Given the description of an element on the screen output the (x, y) to click on. 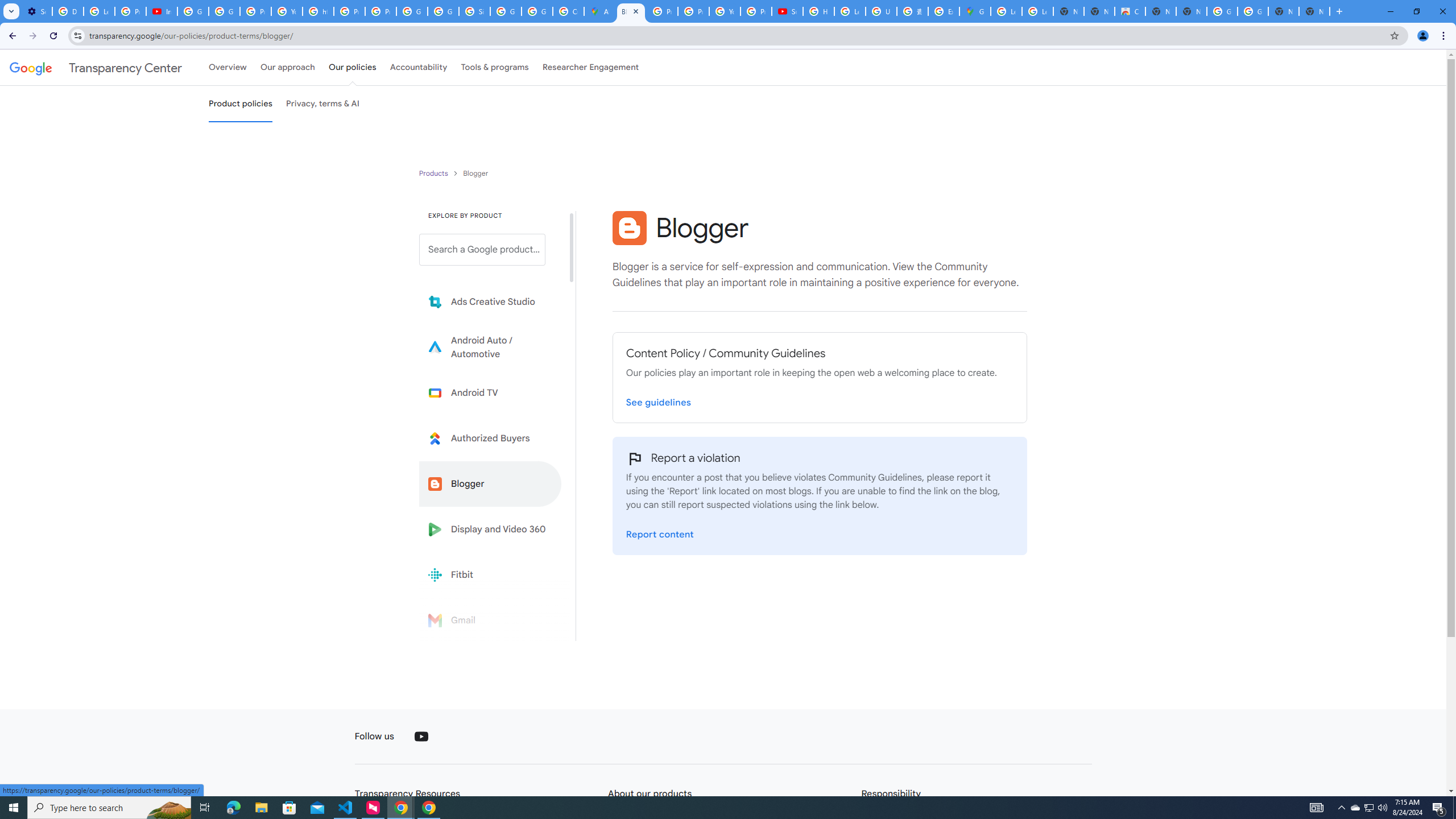
Create your Google Account (568, 11)
YouTube (724, 11)
Product policies (434, 173)
Researcher Engagement (590, 67)
Privacy Help Center - Policies Help (662, 11)
Privacy Help Center - Policies Help (693, 11)
https://scholar.google.com/ (318, 11)
Display and Video 360 (490, 529)
Explore new street-level details - Google Maps Help (943, 11)
Google Images (1252, 11)
Learn more about Android TV (490, 393)
